Given the description of an element on the screen output the (x, y) to click on. 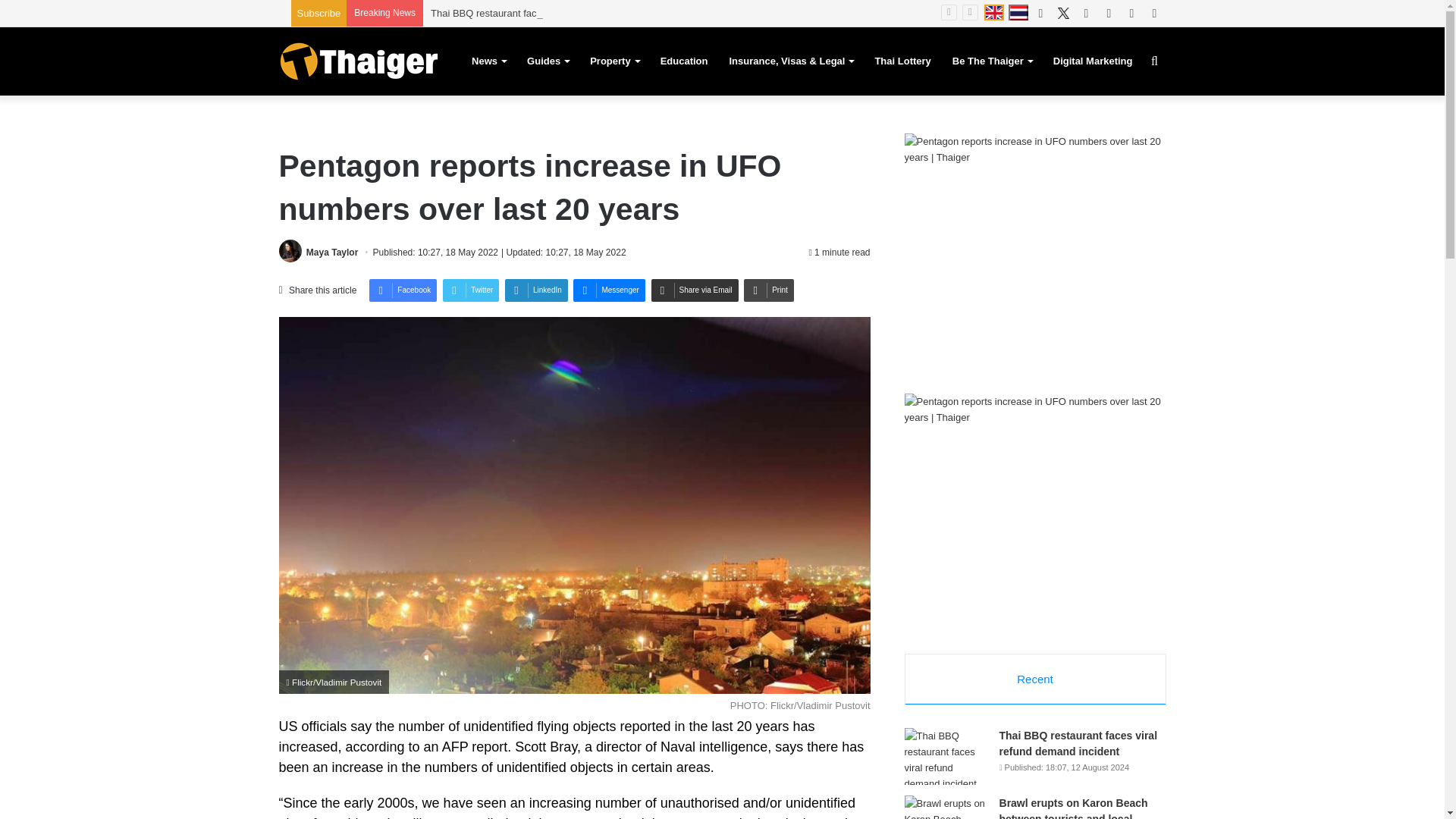
Share via Email (694, 290)
Twitter (470, 290)
Thai BBQ restaurant faces viral refund demand incident (551, 12)
Maya Taylor (331, 252)
LinkedIn (536, 290)
Facebook (402, 290)
Thaiger (358, 60)
Messenger (609, 290)
Subscribe (318, 12)
Print (768, 290)
